Given the description of an element on the screen output the (x, y) to click on. 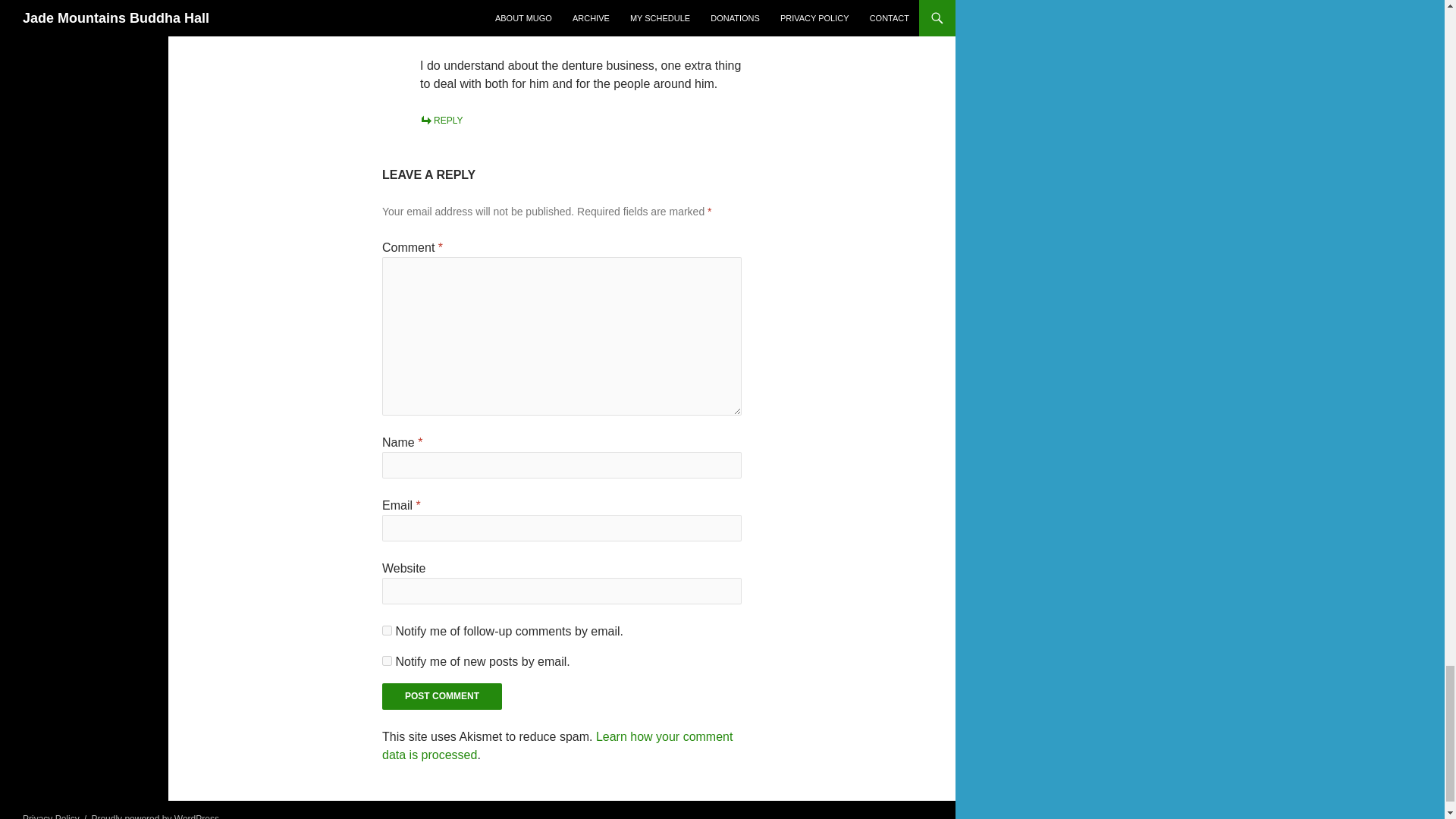
Post Comment (441, 696)
subscribe (386, 660)
subscribe (386, 630)
